Given the description of an element on the screen output the (x, y) to click on. 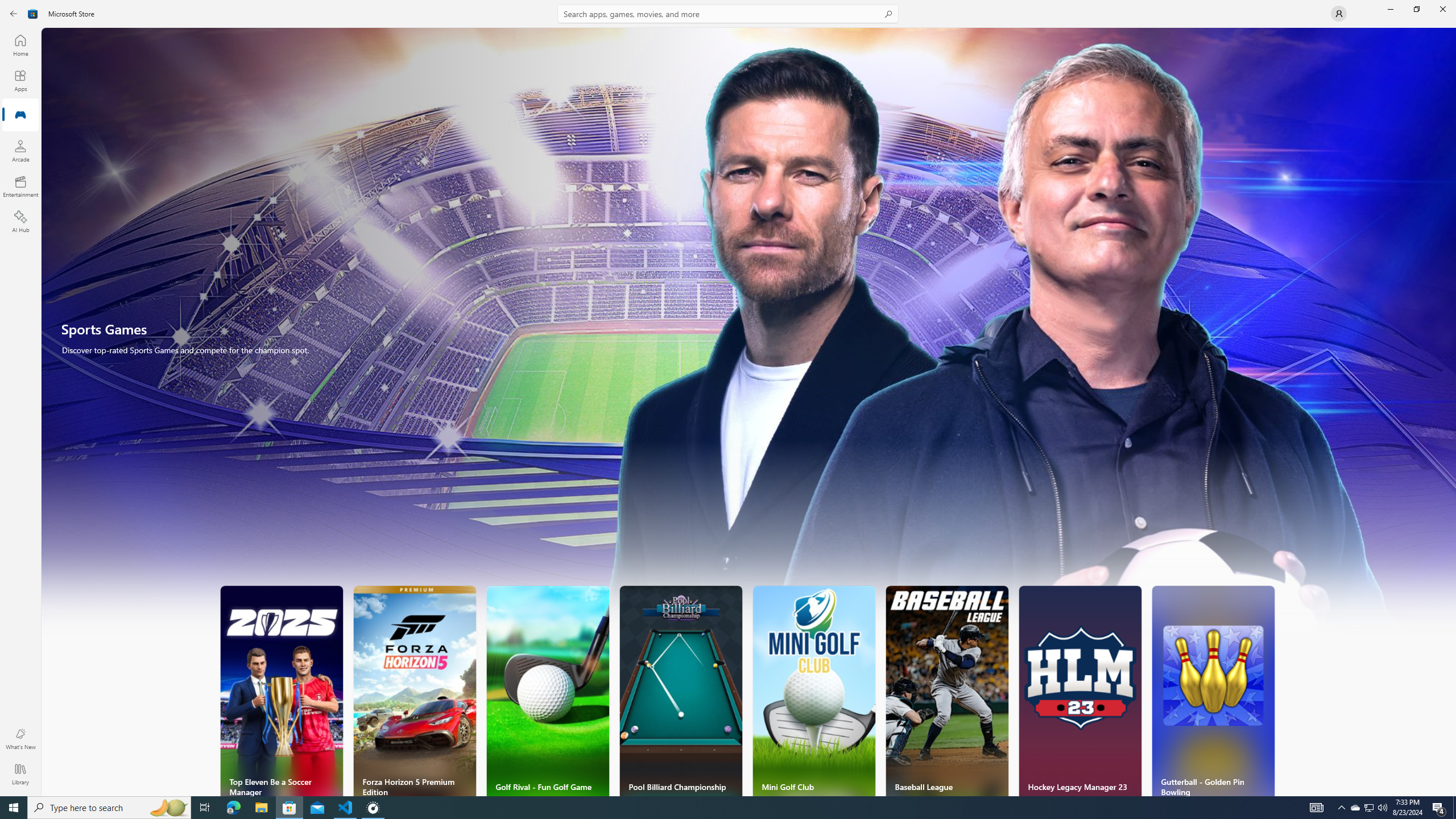
Search (727, 13)
Back (13, 13)
AutomationID: HeroOverlayImage (749, 337)
AutomationID: HeroImage (749, 337)
